Given the description of an element on the screen output the (x, y) to click on. 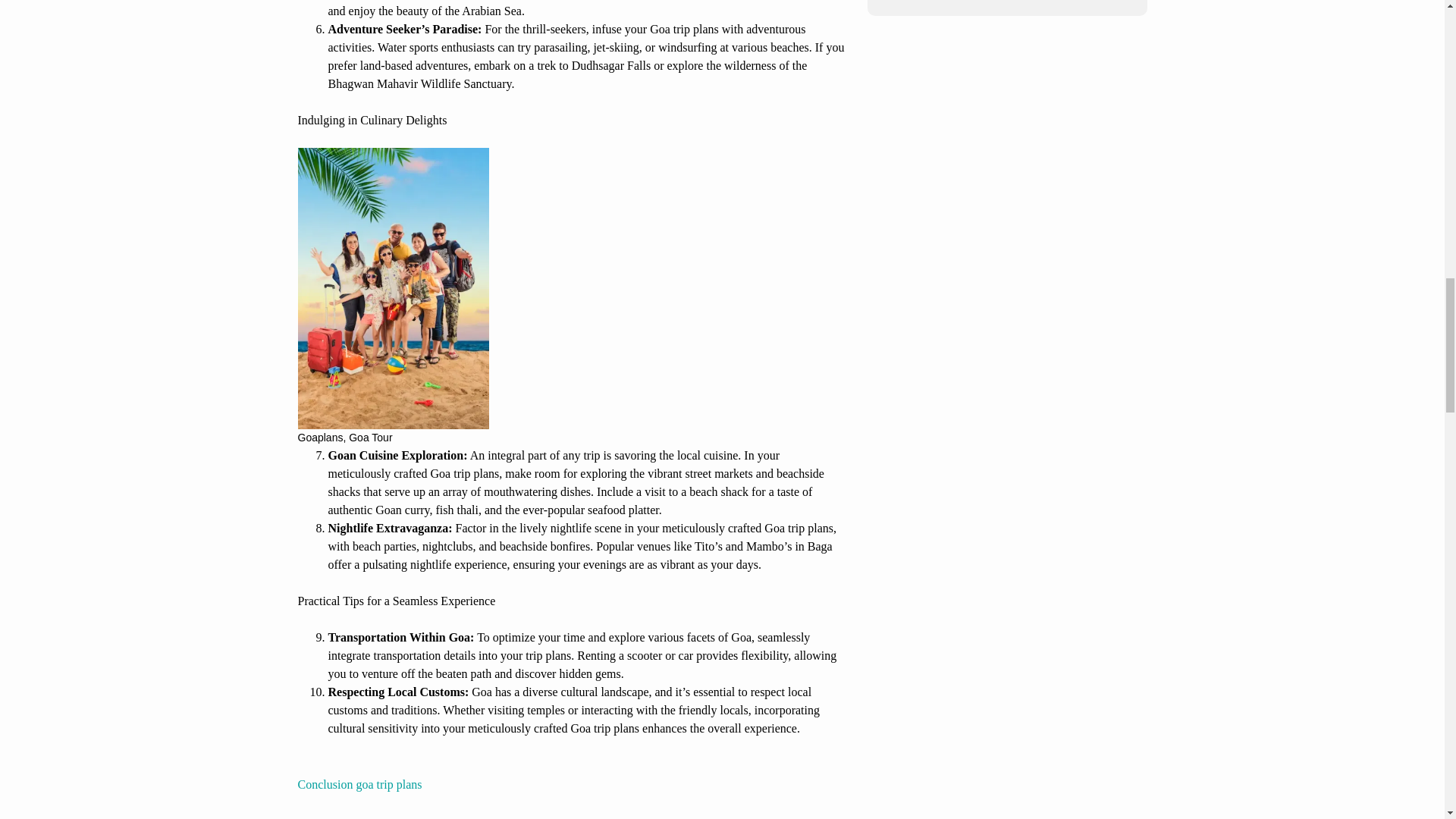
Conclusion goa trip plans (359, 784)
